Given the description of an element on the screen output the (x, y) to click on. 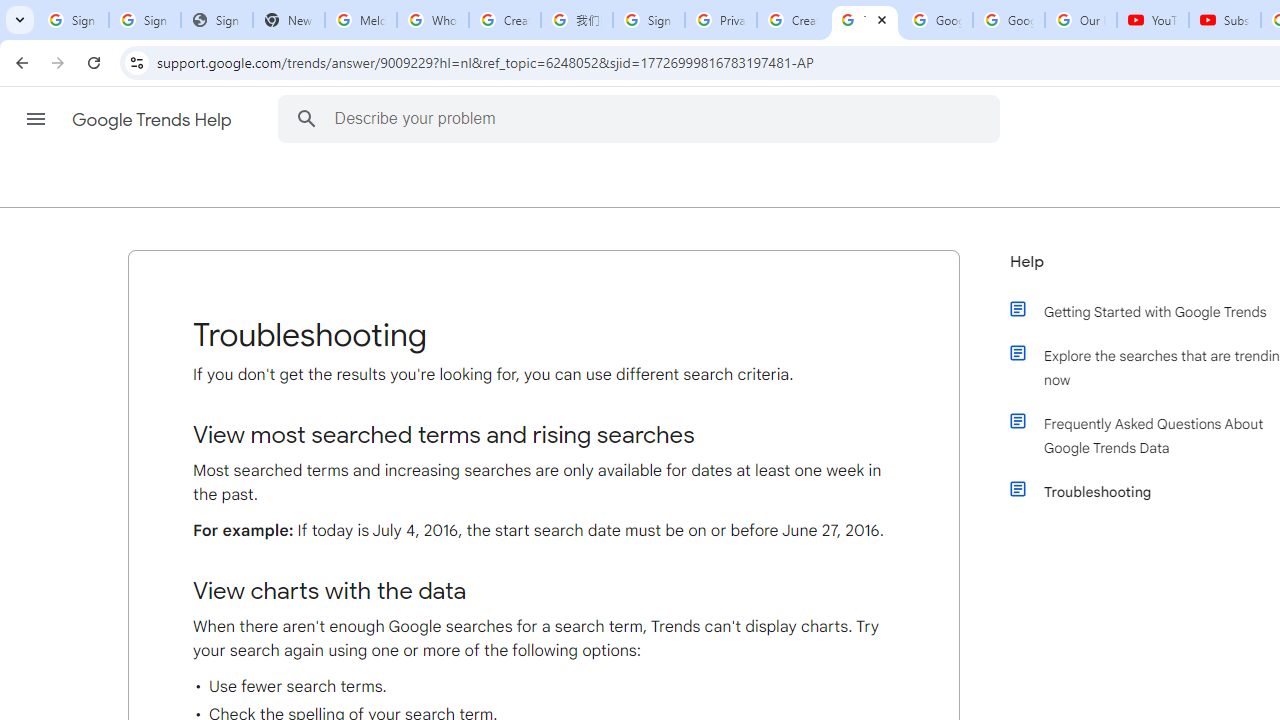
Sign in - Google Accounts (648, 20)
